Given the description of an element on the screen output the (x, y) to click on. 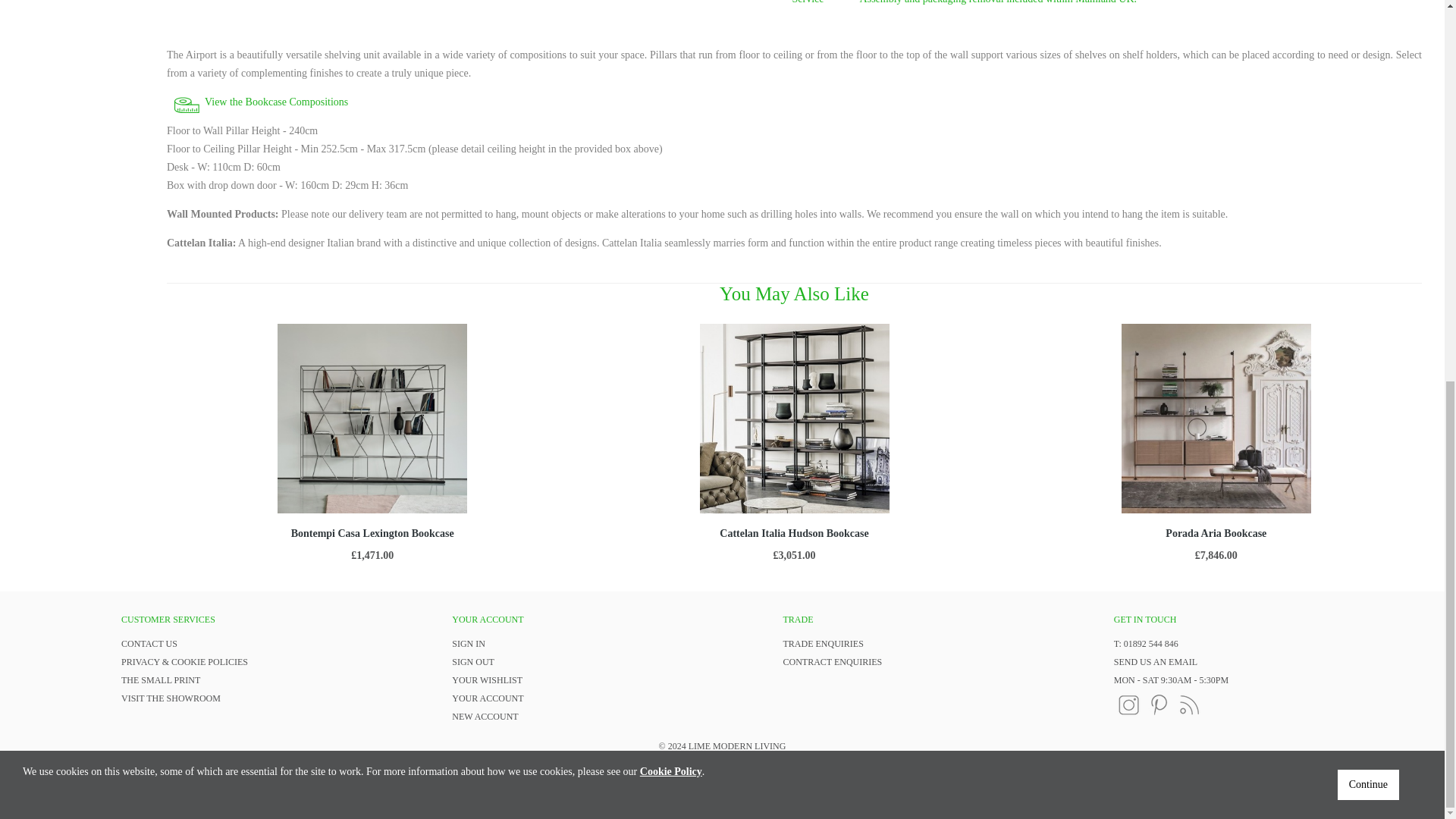
CONTACT US (148, 643)
YOUR ACCOUNT (486, 697)
VISIT THE SHOWROOM (170, 697)
Service (819, 2)
SIGN IN (467, 643)
Porada Aria Bookcase (1216, 532)
Bontempi Casa Lexington Bookcase (372, 532)
TRADE ENQUIRIES (823, 643)
THE SMALL PRINT (160, 679)
YOUR WISHLIST (486, 679)
